Given the description of an element on the screen output the (x, y) to click on. 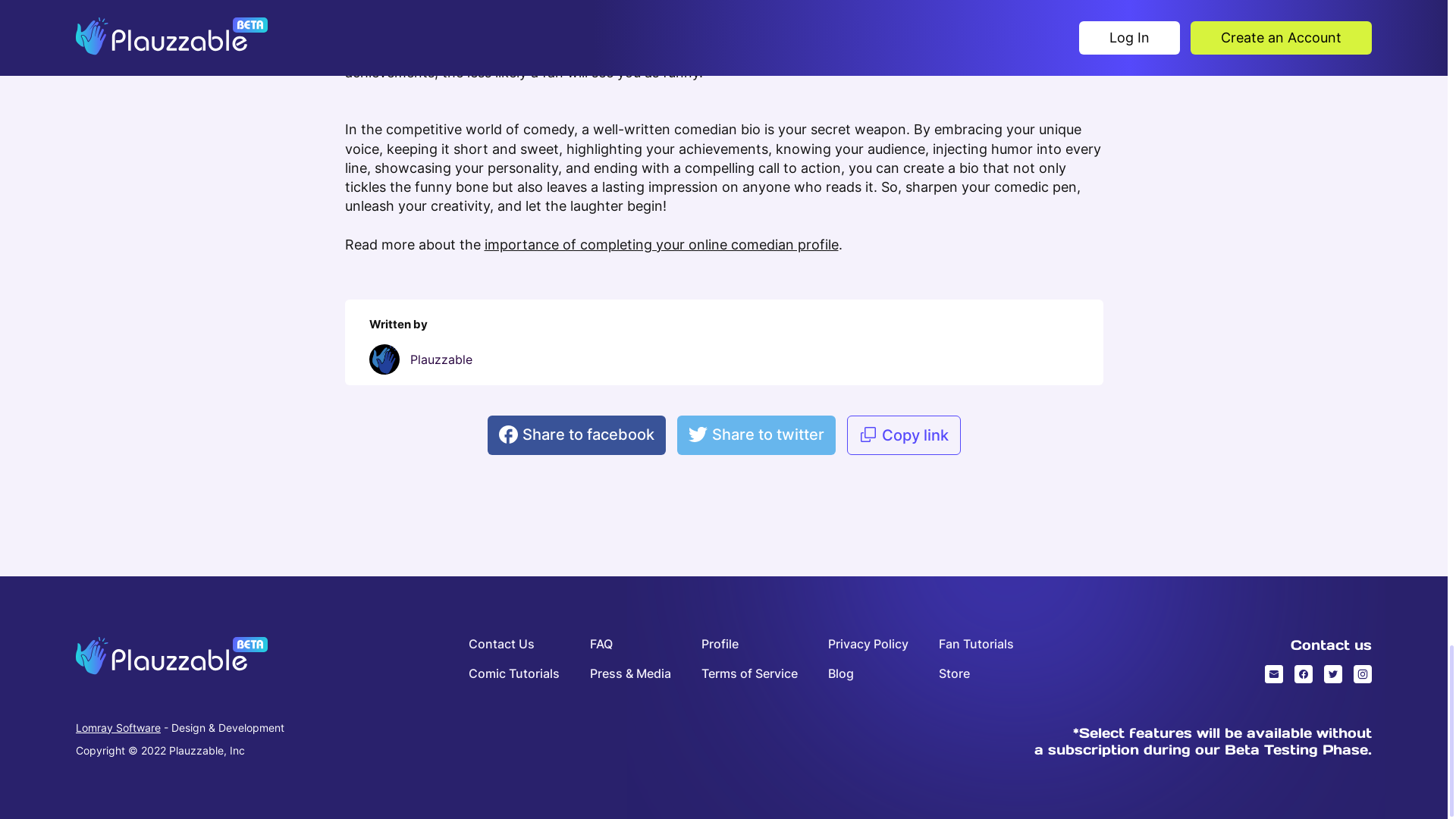
FAQ (630, 644)
Share to facebook (575, 435)
Share to twitter (755, 435)
Contact Us (513, 644)
Store (976, 673)
Copy link (902, 435)
Profile (749, 644)
Lomray Software (117, 727)
Blog (868, 673)
Comic Tutorials (513, 673)
Terms of Service (749, 673)
importance of completing your online comedian profile (660, 244)
Fan Tutorials (976, 644)
Privacy Policy (868, 644)
